Given the description of an element on the screen output the (x, y) to click on. 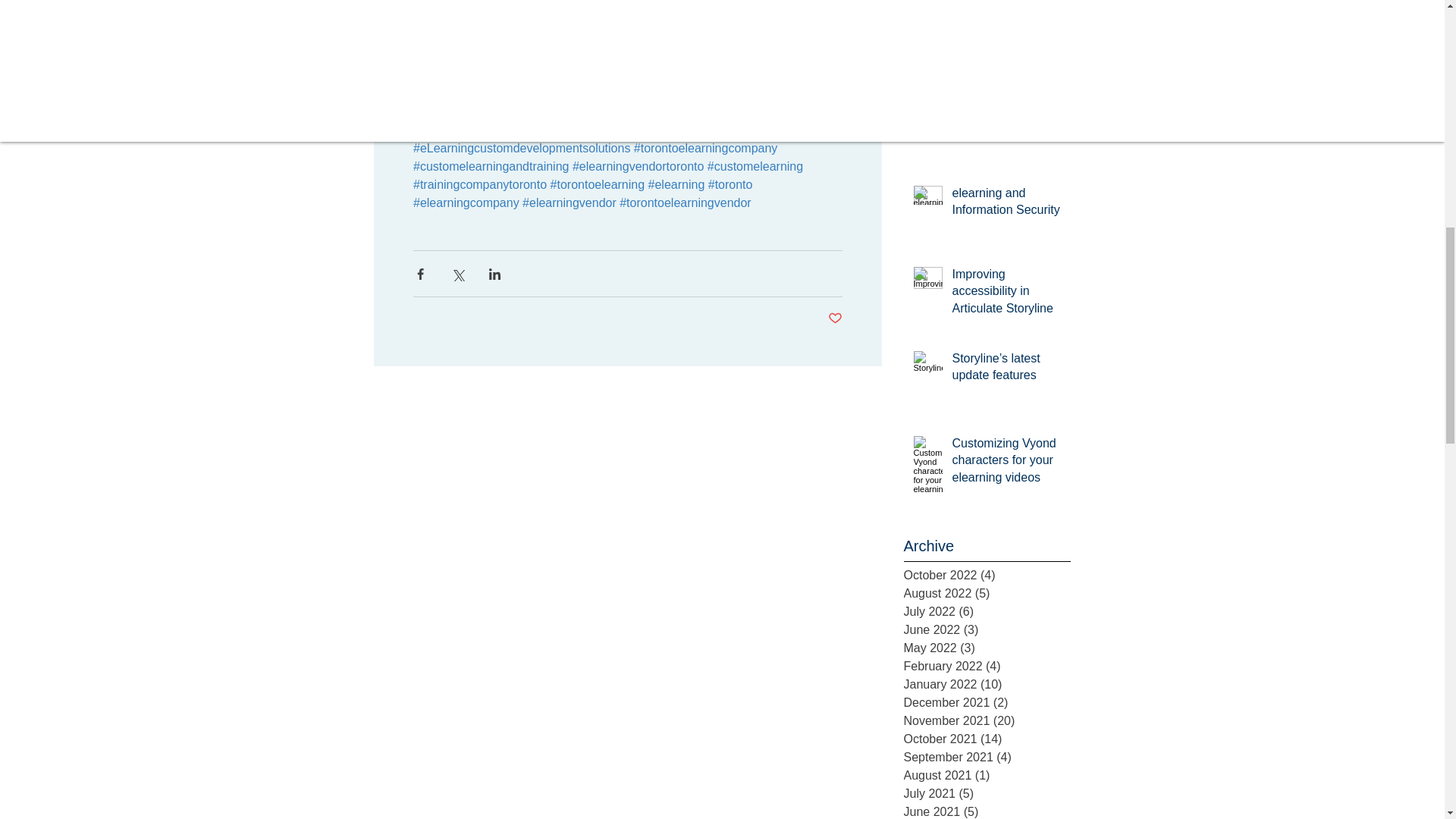
Improving accessibility in Articulate Storyline (1006, 294)
Post not marked as liked (835, 318)
New features in Articulate Storyline (1006, 106)
elearning and Information Security (1006, 205)
Customizing Vyond characters for your elearning videos (1006, 463)
Hybrid work and elearning time (992, 28)
